Given the description of an element on the screen output the (x, y) to click on. 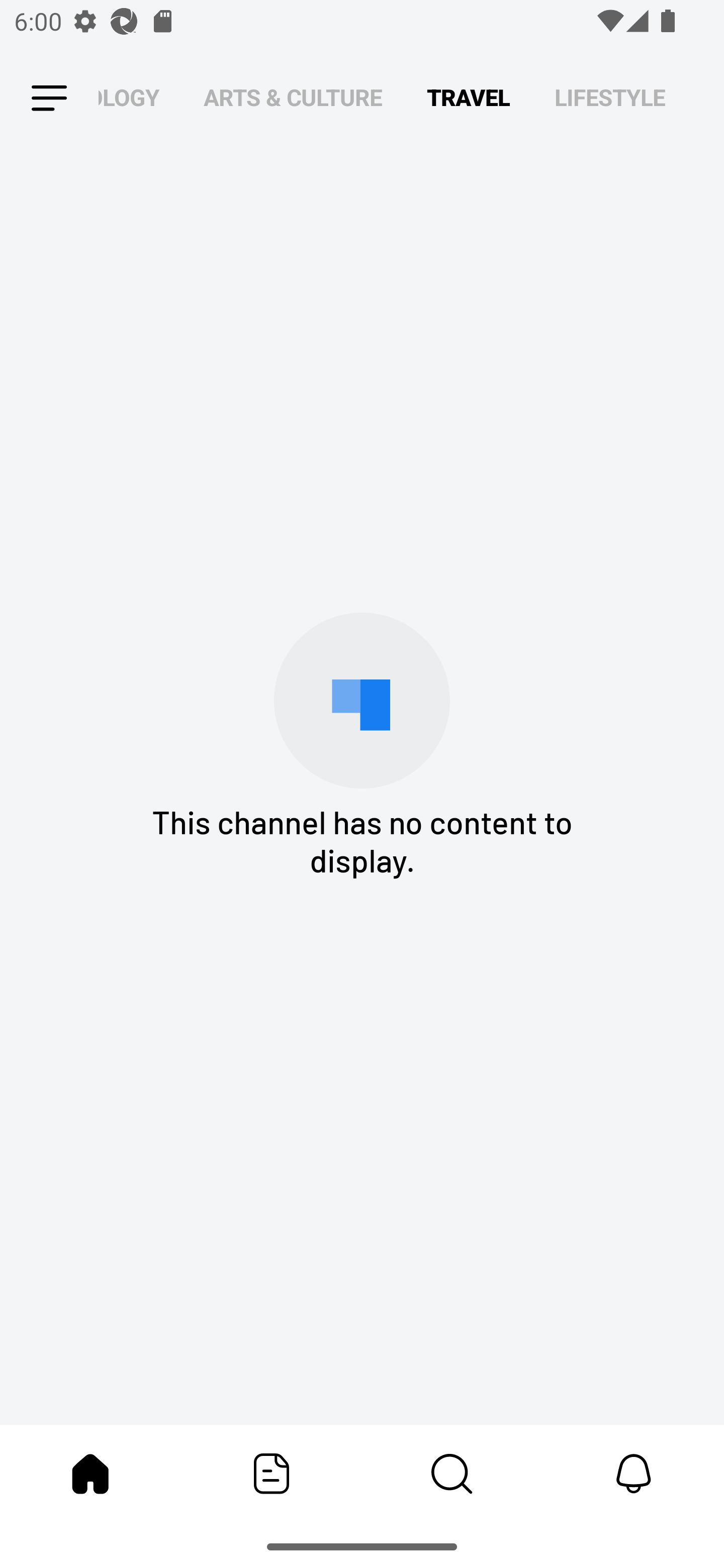
Leading Icon (49, 98)
TECHNOLOGY (128, 97)
ARTS & CULTURE (292, 97)
LIFESTYLE (609, 97)
Featured (271, 1473)
Content Store (452, 1473)
Notifications (633, 1473)
